Given the description of an element on the screen output the (x, y) to click on. 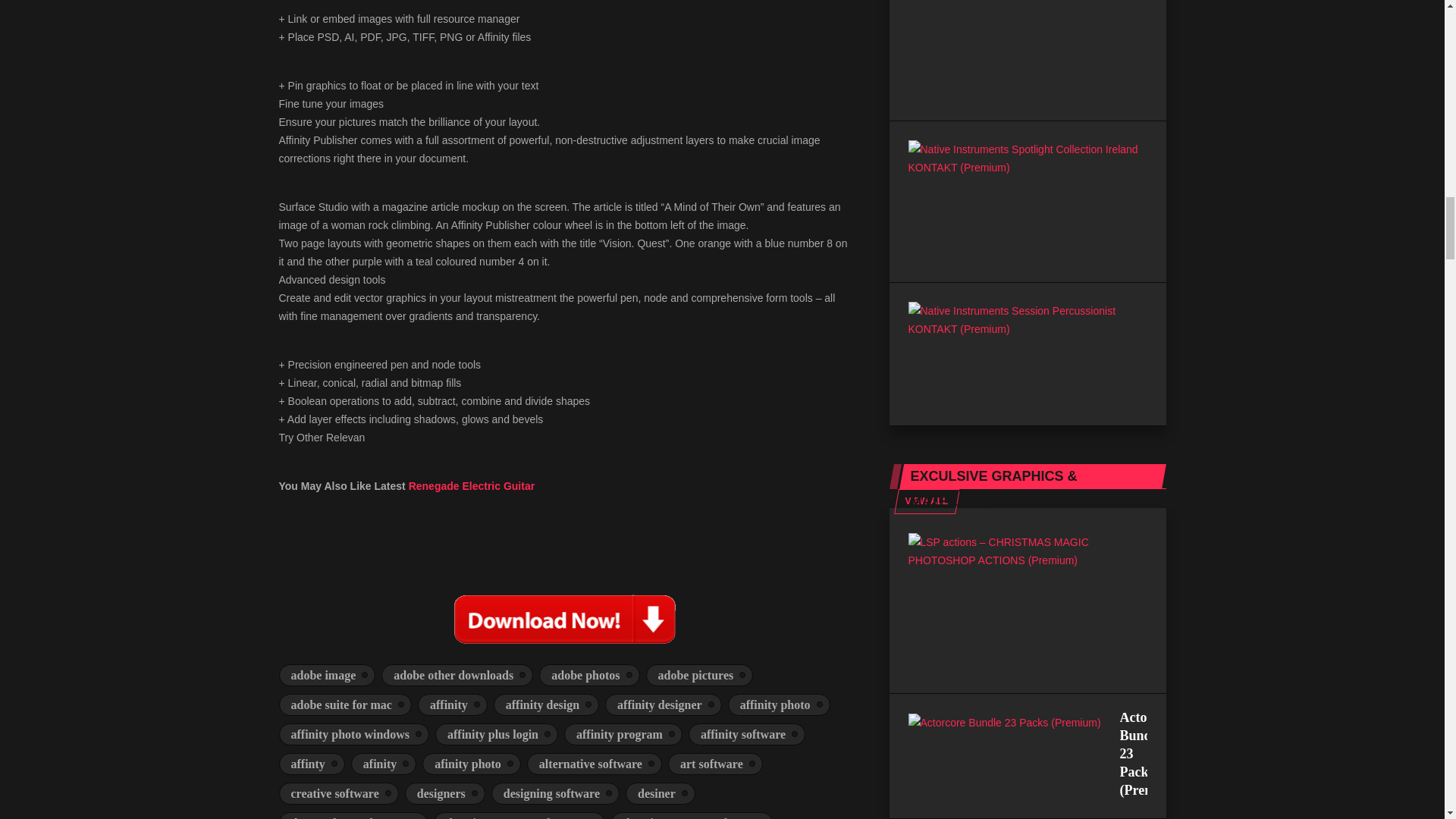
adobe pictures (700, 675)
adobe image (327, 675)
adobe other downloads (456, 675)
affinity (452, 704)
adobe photos (588, 675)
adobe suite for mac (345, 704)
